Given the description of an element on the screen output the (x, y) to click on. 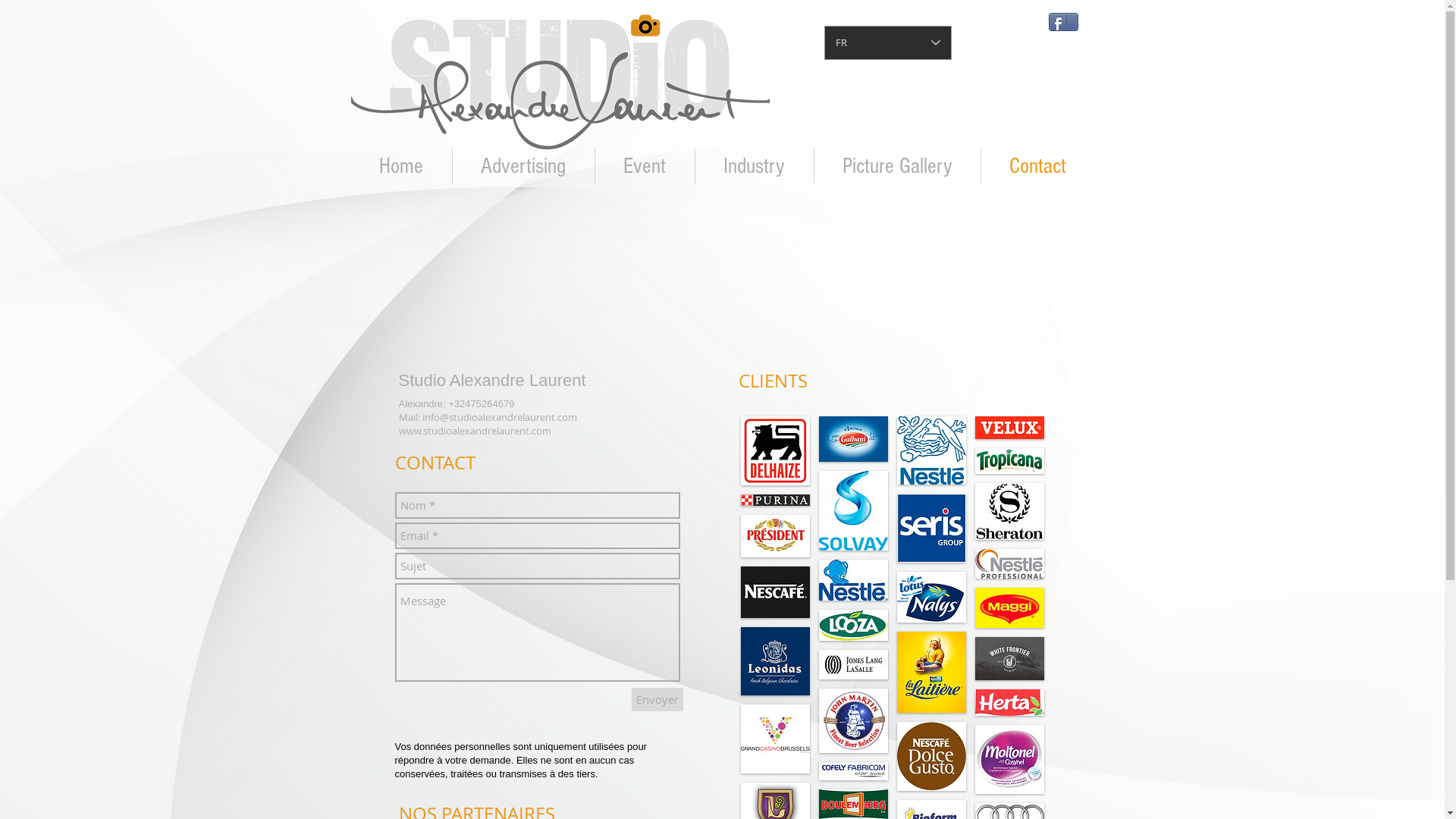
www.studioalexandrelaurent.com Element type: text (474, 430)
Home Element type: text (400, 166)
Envoyer Element type: text (656, 699)
info@studioalexandrelaurent.com Element type: text (498, 416)
Picture Gallery Element type: text (897, 166)
Advertising Element type: text (522, 166)
Contact Element type: text (1037, 166)
Event Element type: text (643, 166)
Industry Element type: text (753, 166)
